Given the description of an element on the screen output the (x, y) to click on. 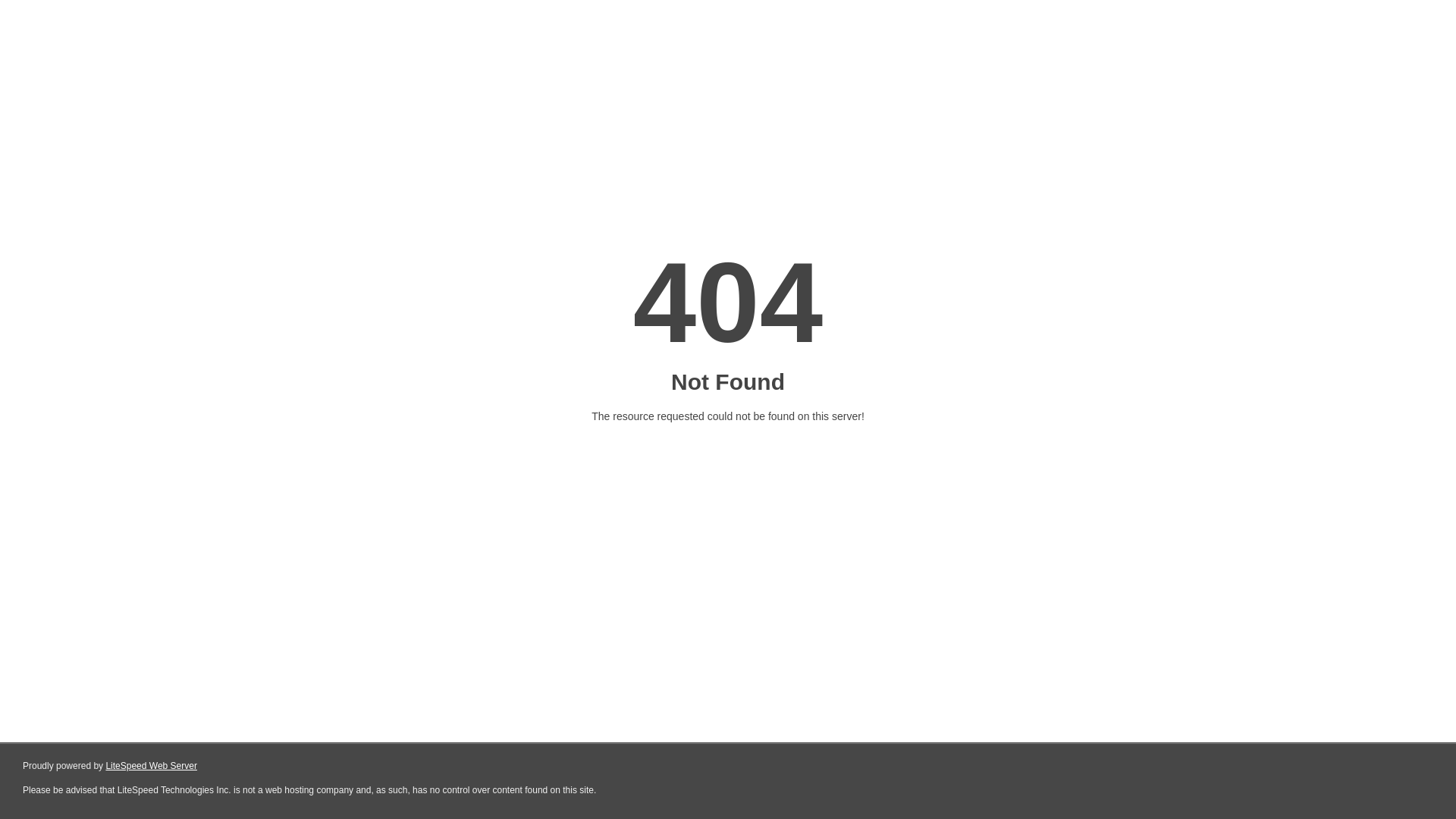
LiteSpeed Web Server Element type: text (151, 765)
